Given the description of an element on the screen output the (x, y) to click on. 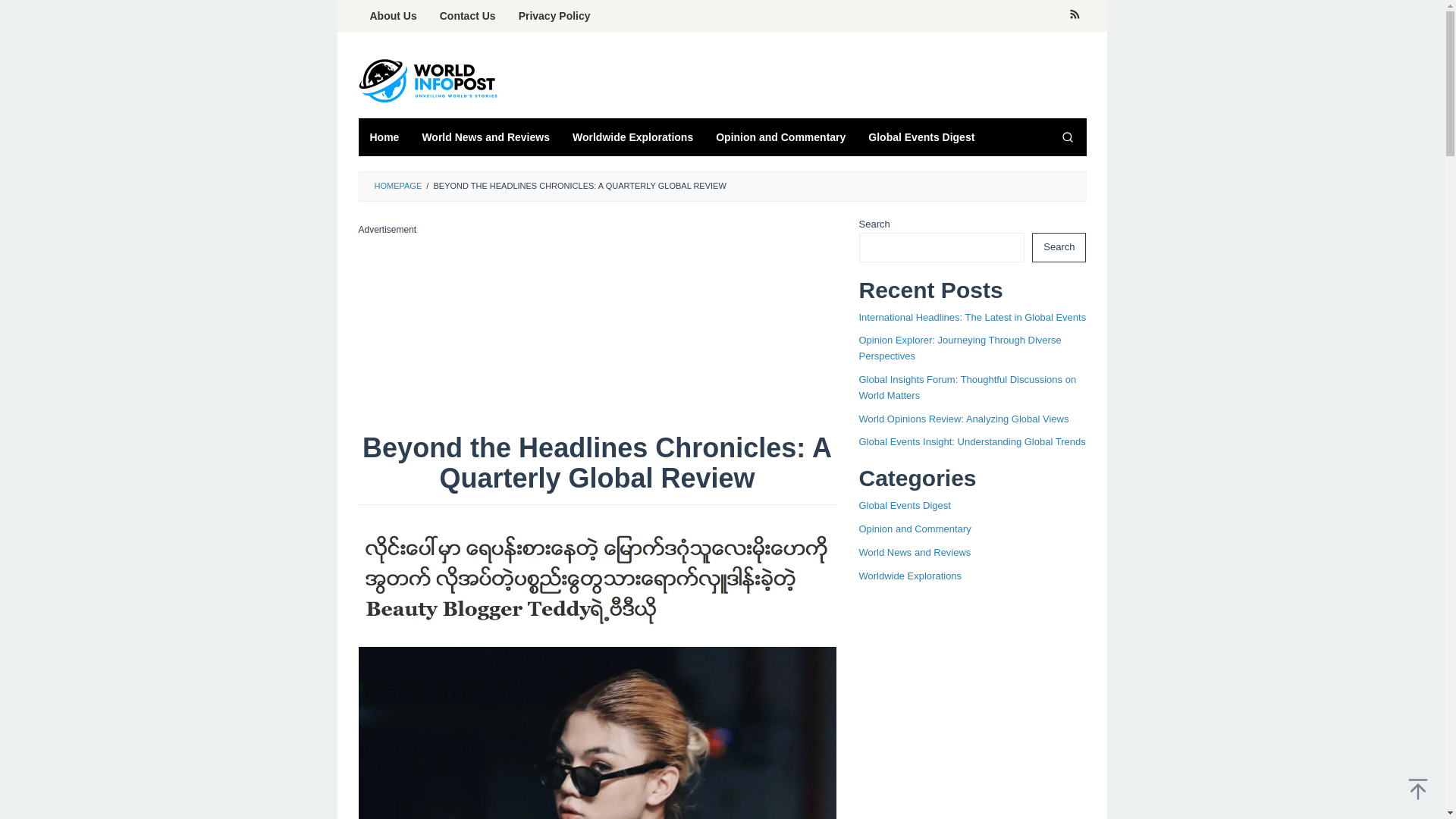
World News and Reviews (915, 552)
Search (1059, 247)
Opinion and Commentary (915, 528)
World Opinions Review: Analyzing Global Views (963, 419)
Opinion and Commentary (780, 136)
Opinion Explorer: Journeying Through Diverse Perspectives (960, 347)
World News and Reviews (485, 136)
Home (384, 136)
World info Post (433, 79)
Worldwide Explorations (632, 136)
Global Events Digest (904, 505)
Search (1067, 136)
About Us (393, 15)
International Headlines: The Latest in Global Events (972, 317)
